Given the description of an element on the screen output the (x, y) to click on. 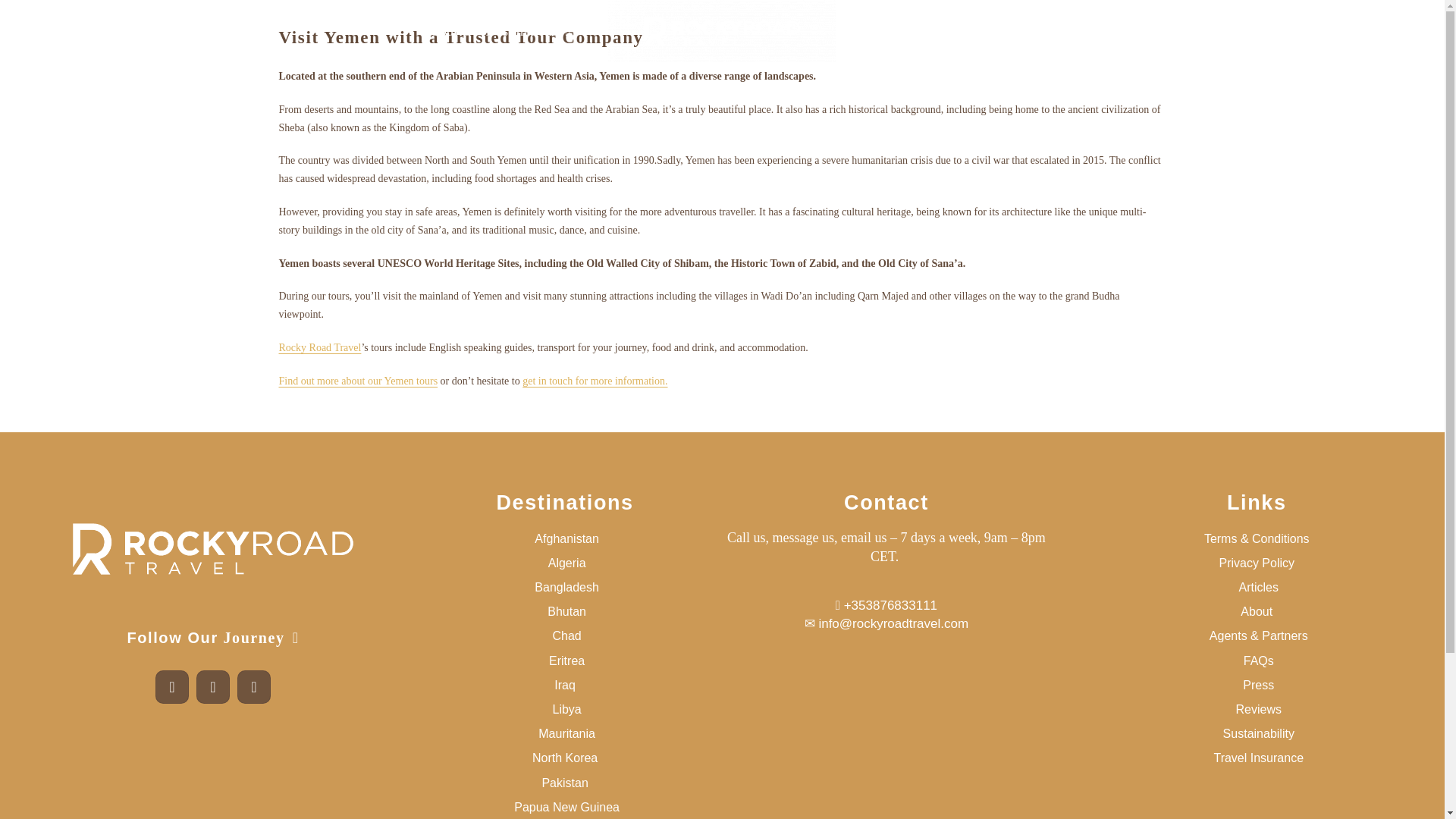
Contact (944, 30)
Rocky Road Travel (320, 347)
Bangladesh (564, 587)
Afghanistan (564, 538)
Destinations (564, 502)
About (445, 30)
get in touch for more information. (594, 380)
Algeria (564, 562)
View our Ecologi profile (212, 772)
FAQs (890, 30)
